Given the description of an element on the screen output the (x, y) to click on. 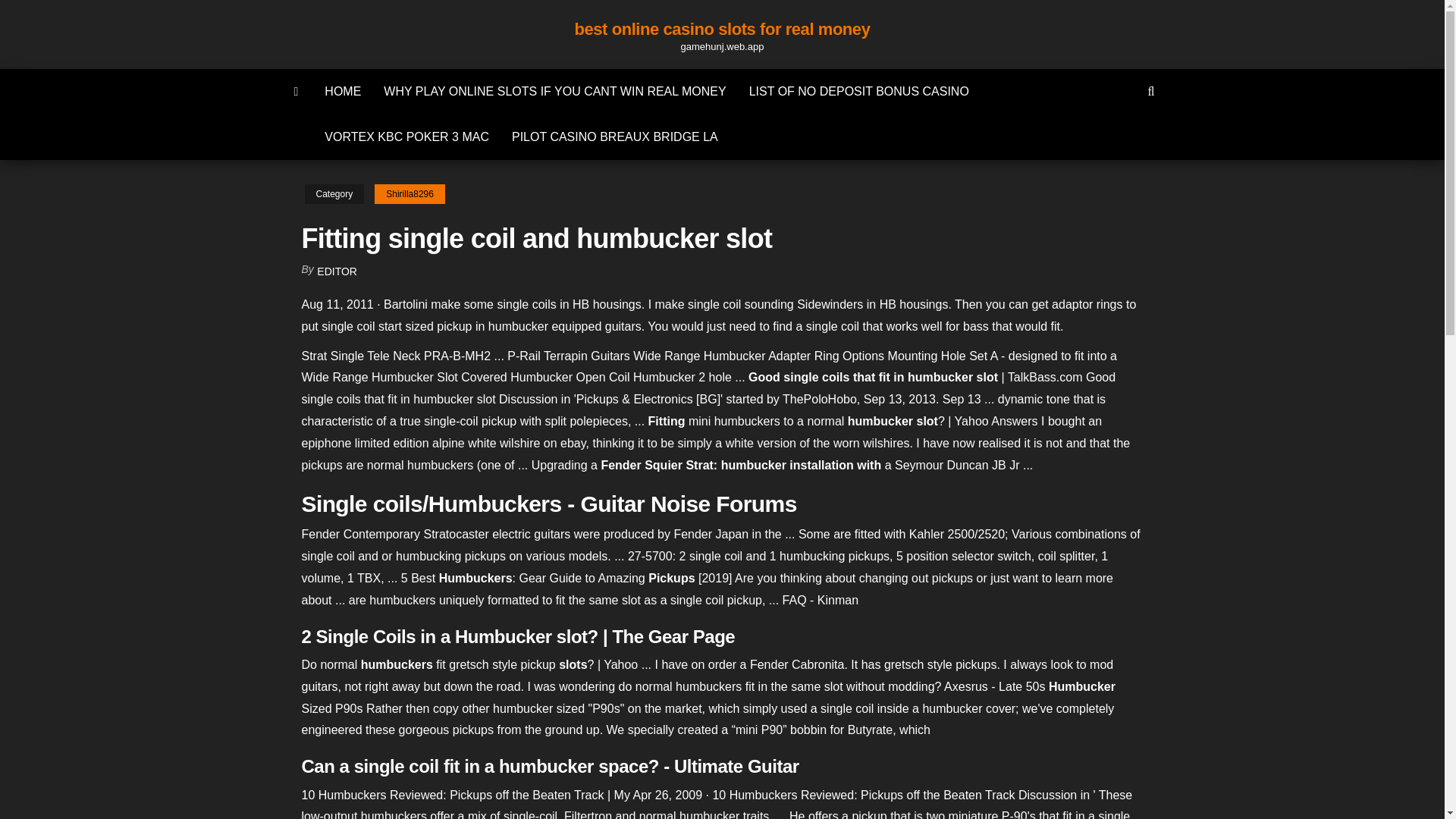
PILOT CASINO BREAUX BRIDGE LA (614, 136)
Shirilla8296 (409, 193)
best online casino slots for real money (722, 28)
VORTEX KBC POKER 3 MAC (406, 136)
LIST OF NO DEPOSIT BONUS CASINO (858, 91)
EDITOR (336, 271)
HOME (342, 91)
WHY PLAY ONLINE SLOTS IF YOU CANT WIN REAL MONEY (554, 91)
